Given the description of an element on the screen output the (x, y) to click on. 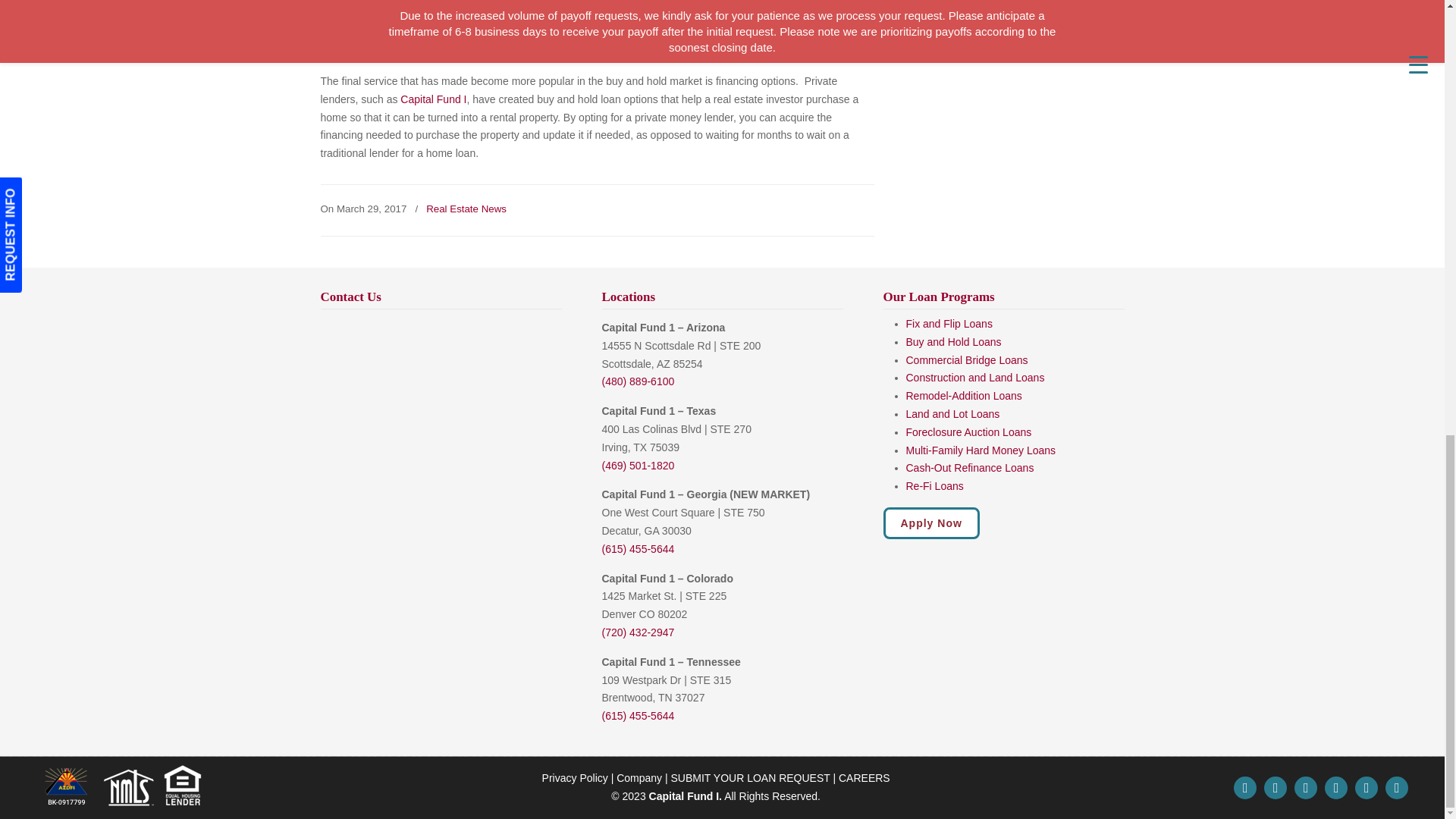
Twitter (1244, 788)
LinkedIn (1336, 788)
Instagram (1366, 788)
Apply Now (930, 522)
YouTube (1396, 788)
Facebook (1275, 788)
